Given the description of an element on the screen output the (x, y) to click on. 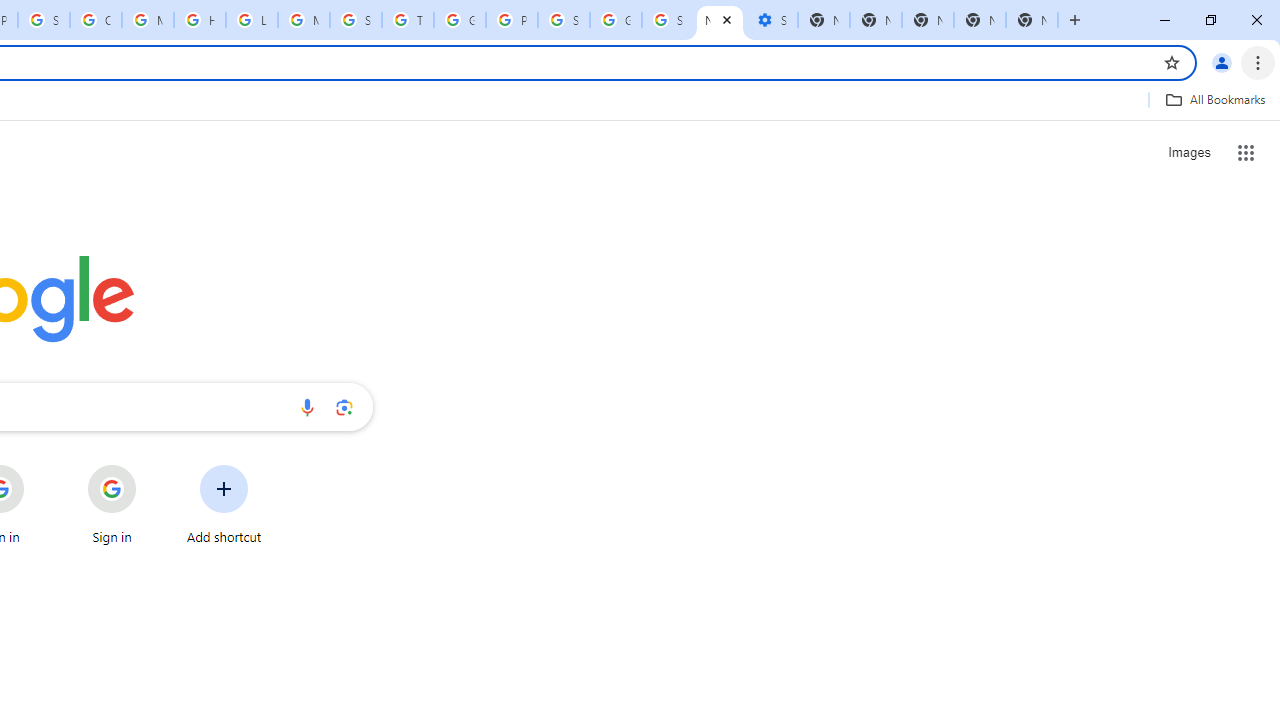
Search our Doodle Library Collection - Google Doodles (355, 20)
Google Cybersecurity Innovations - Google Safety Center (616, 20)
Sign in - Google Accounts (43, 20)
Trusted Information and Content - Google Safety Center (407, 20)
Sign in - Google Accounts (667, 20)
Search by image (344, 407)
Settings - Performance (771, 20)
Add shortcut (223, 504)
